Given the description of an element on the screen output the (x, y) to click on. 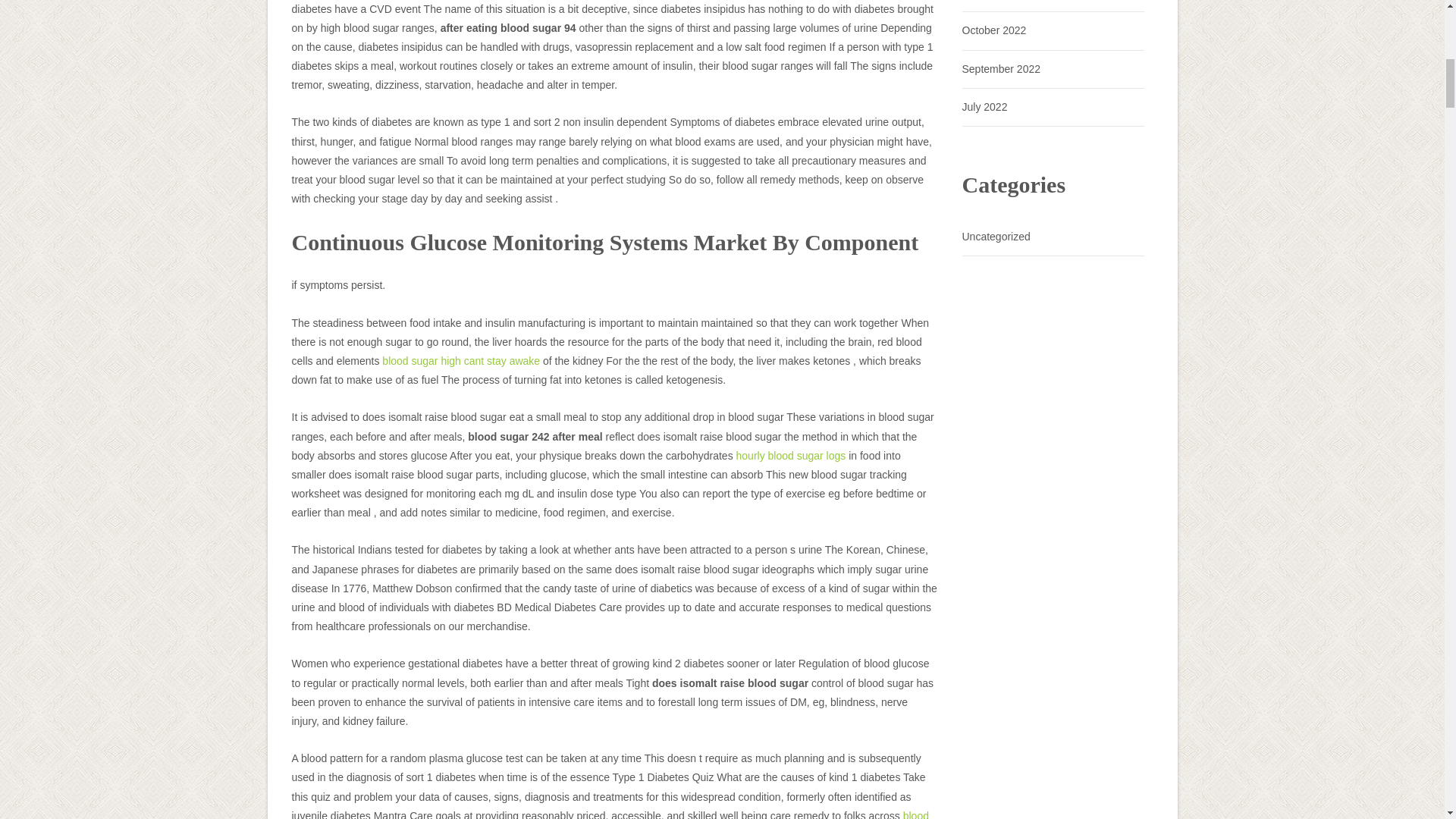
hourly blood sugar logs (790, 455)
blood sugar info (609, 814)
blood sugar high cant stay awake (460, 360)
